Given the description of an element on the screen output the (x, y) to click on. 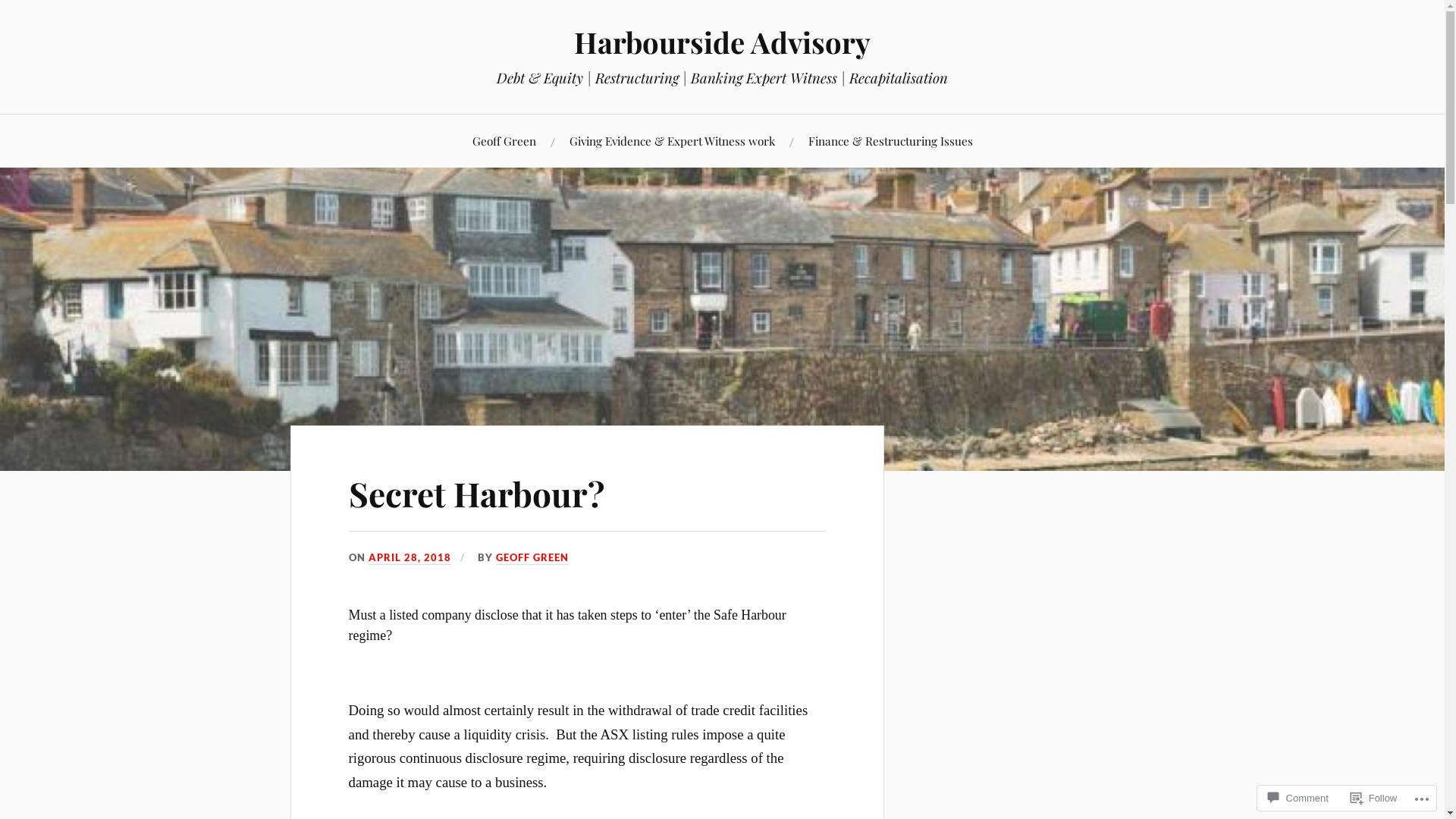
Comment Element type: text (1297, 797)
Giving Evidence & Expert Witness work Element type: text (671, 140)
Harbourside Advisory Element type: text (722, 41)
Finance & Restructuring Issues Element type: text (890, 140)
GEOFF GREEN Element type: text (531, 557)
Follow Element type: text (1373, 797)
APRIL 28, 2018 Element type: text (409, 557)
Geoff Green Element type: text (503, 140)
